Given the description of an element on the screen output the (x, y) to click on. 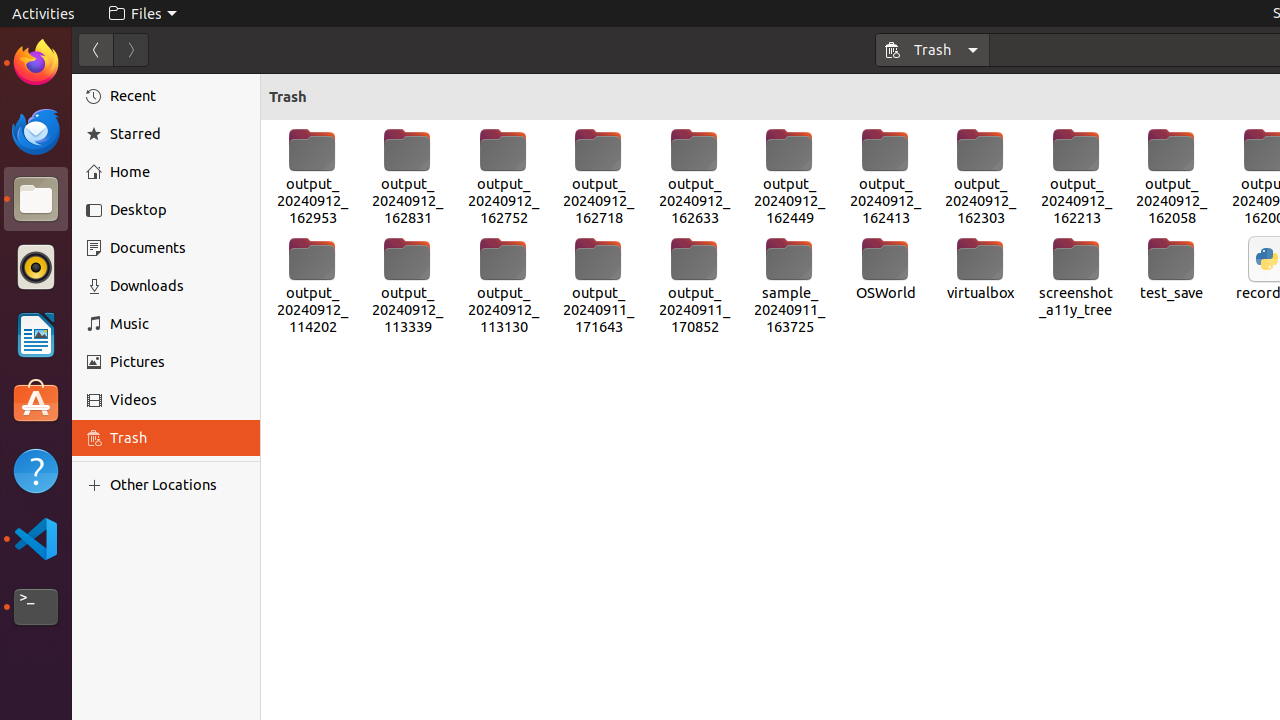
test_save Element type: canvas (1171, 269)
output_20240912_162752 Element type: canvas (503, 177)
Pictures Element type: label (178, 362)
Videos Element type: label (178, 400)
